Given the description of an element on the screen output the (x, y) to click on. 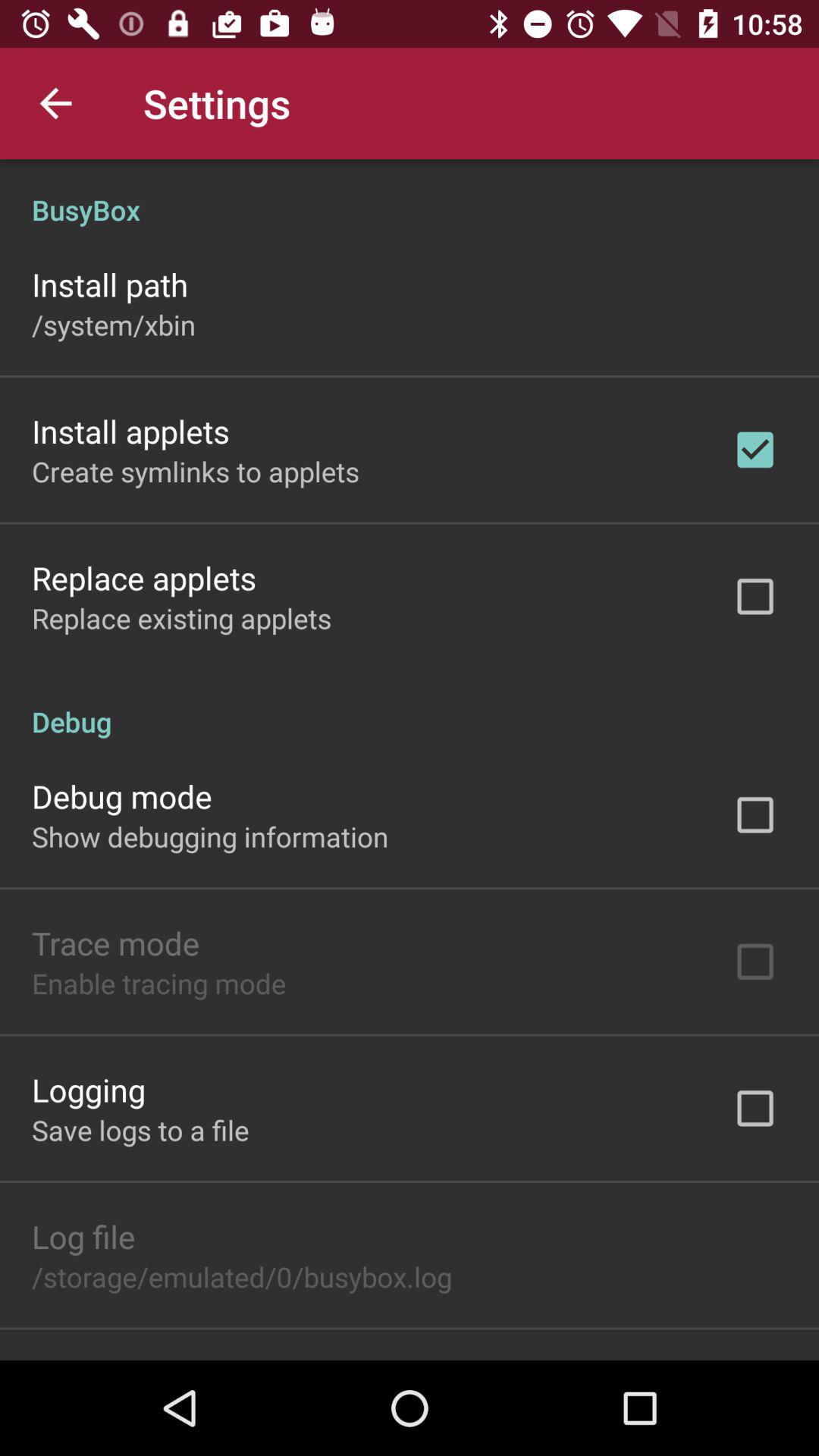
open the icon below debug item (121, 795)
